Given the description of an element on the screen output the (x, y) to click on. 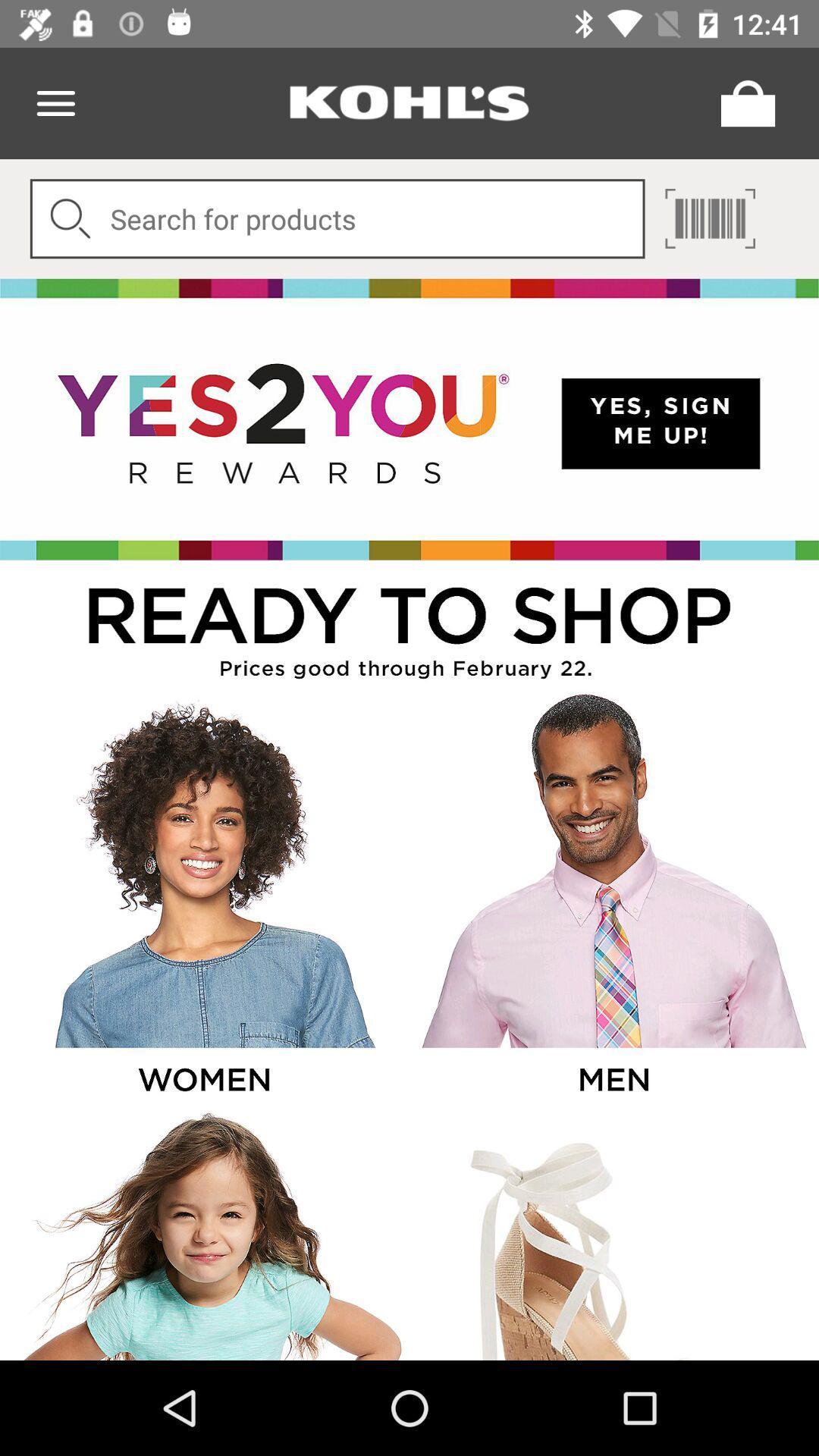
select the option image (203, 899)
